Given the description of an element on the screen output the (x, y) to click on. 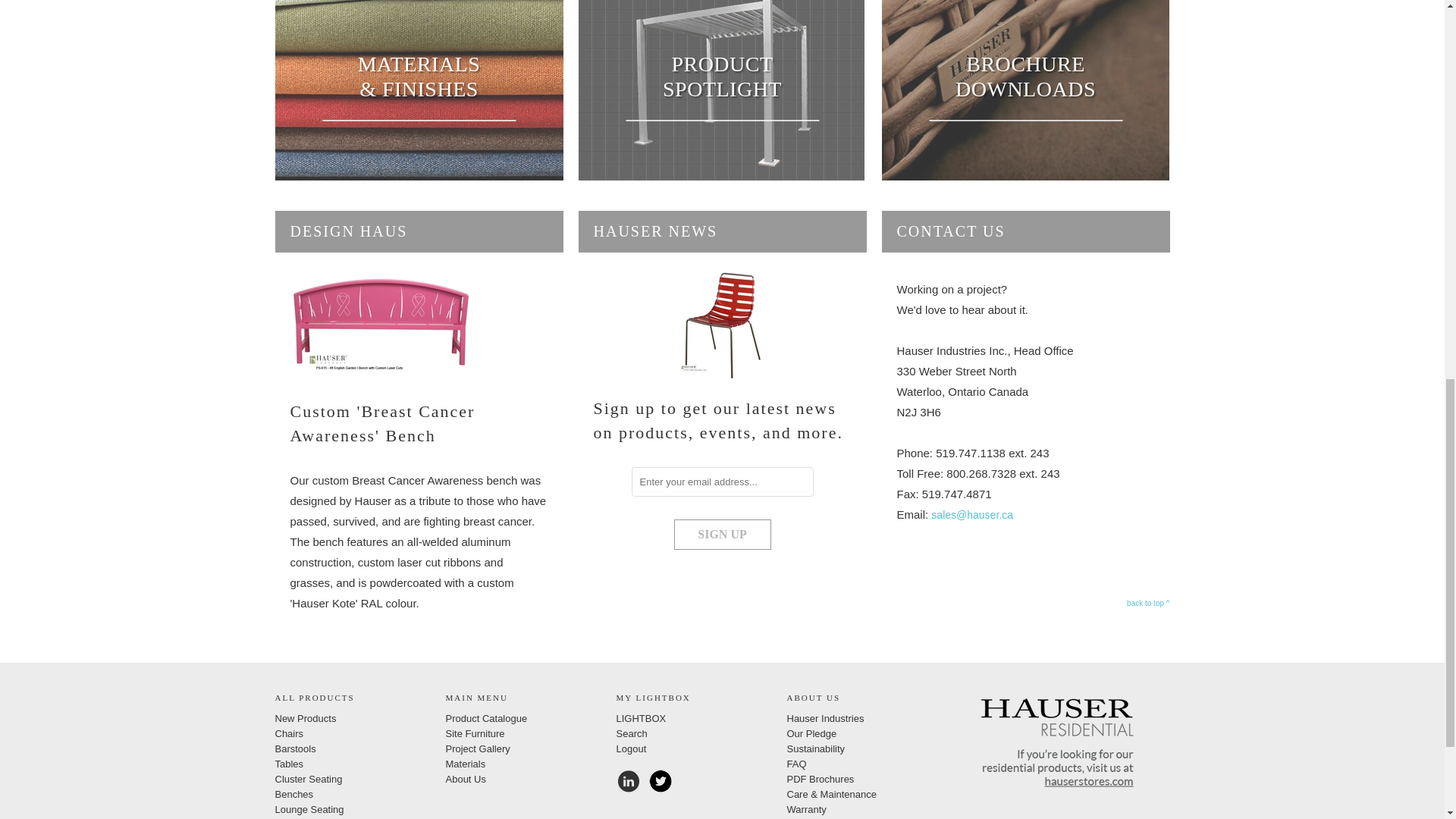
Sign Up (721, 533)
